Given the description of an element on the screen output the (x, y) to click on. 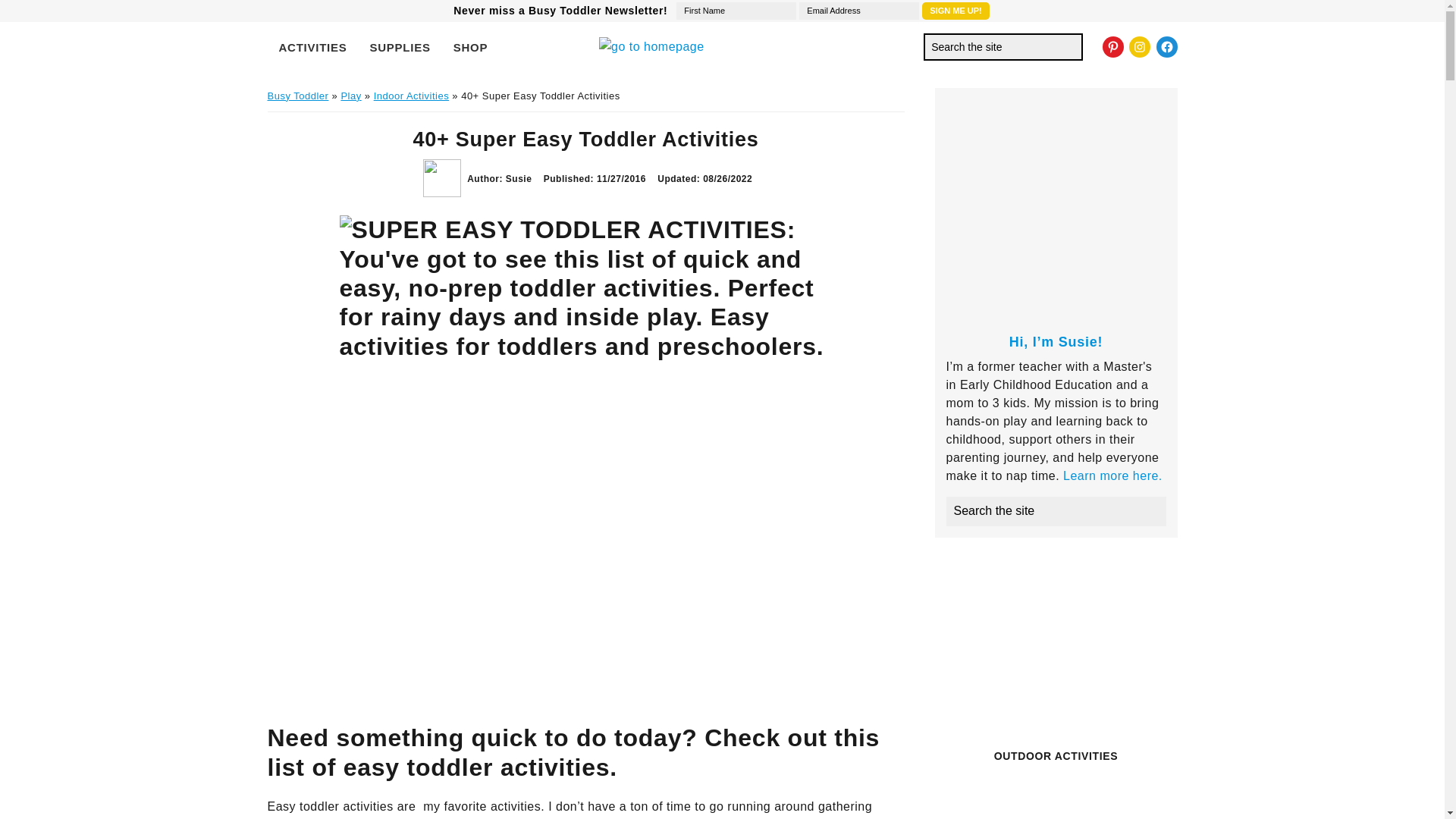
SIGN ME UP! (954, 10)
SHOP (470, 47)
Pinterest (1113, 46)
Instagram (1139, 46)
ACTIVITIES (312, 47)
Indoor Activities (411, 95)
Facebook (1166, 46)
Busy Toddler (297, 95)
